Given the description of an element on the screen output the (x, y) to click on. 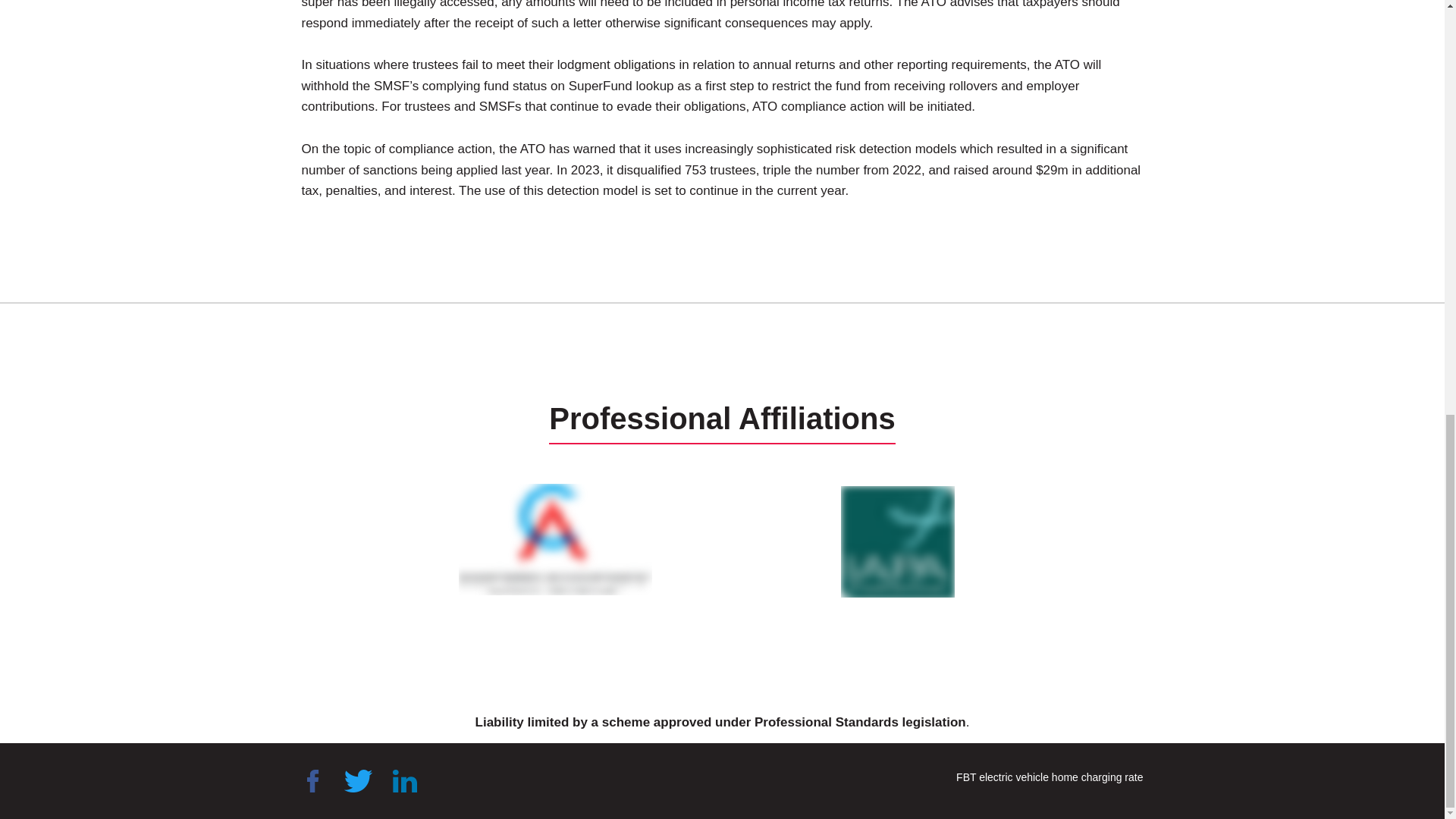
FBT electric vehicle home charging rate (1049, 776)
